Given the description of an element on the screen output the (x, y) to click on. 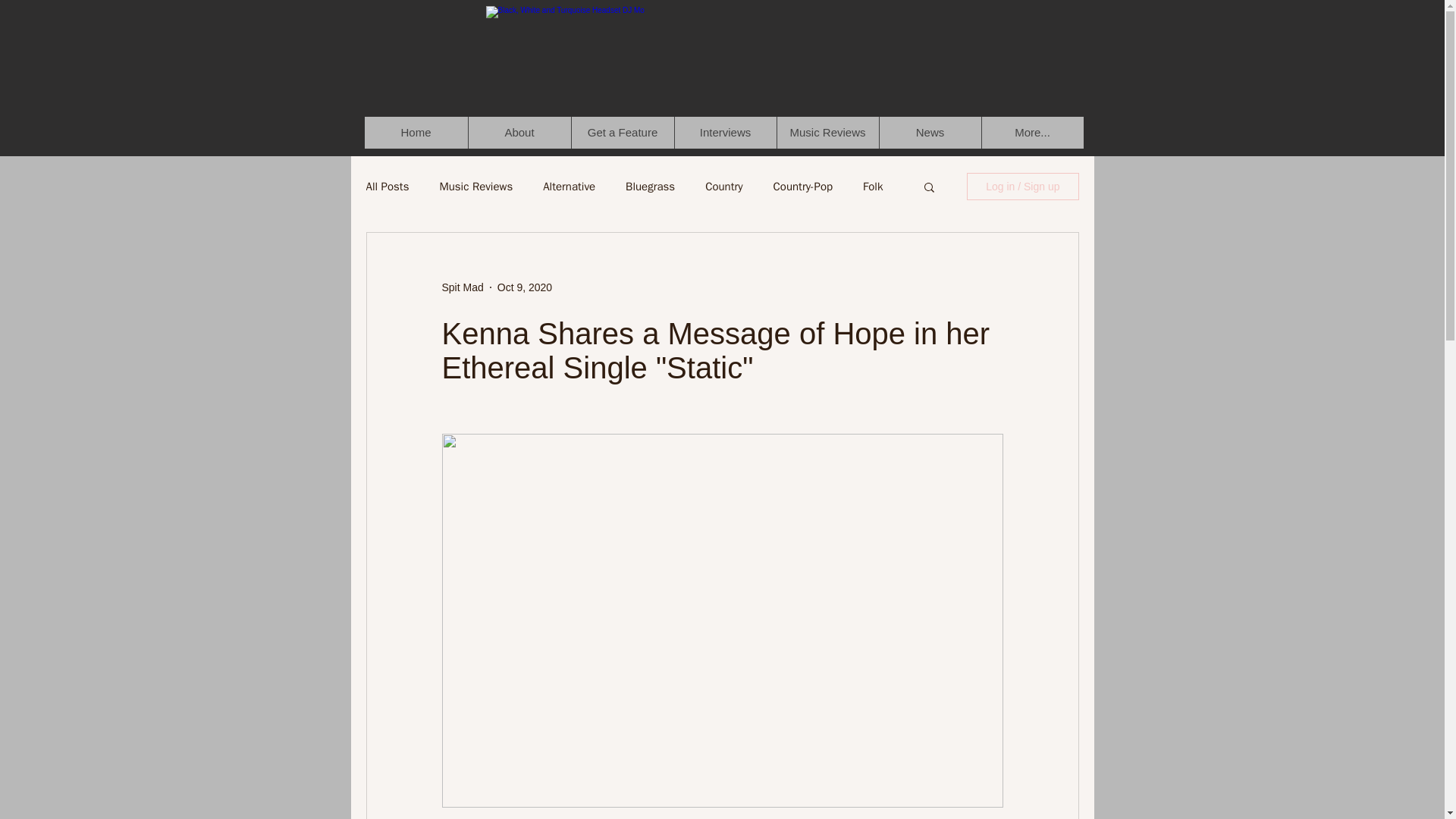
News (928, 132)
Folk (872, 186)
Oct 9, 2020 (524, 286)
Country-Pop (802, 186)
Spit Mad (462, 286)
Alternative (569, 186)
Country (723, 186)
Get a Feature (621, 132)
Bluegrass (650, 186)
Music Reviews (475, 186)
